Given the description of an element on the screen output the (x, y) to click on. 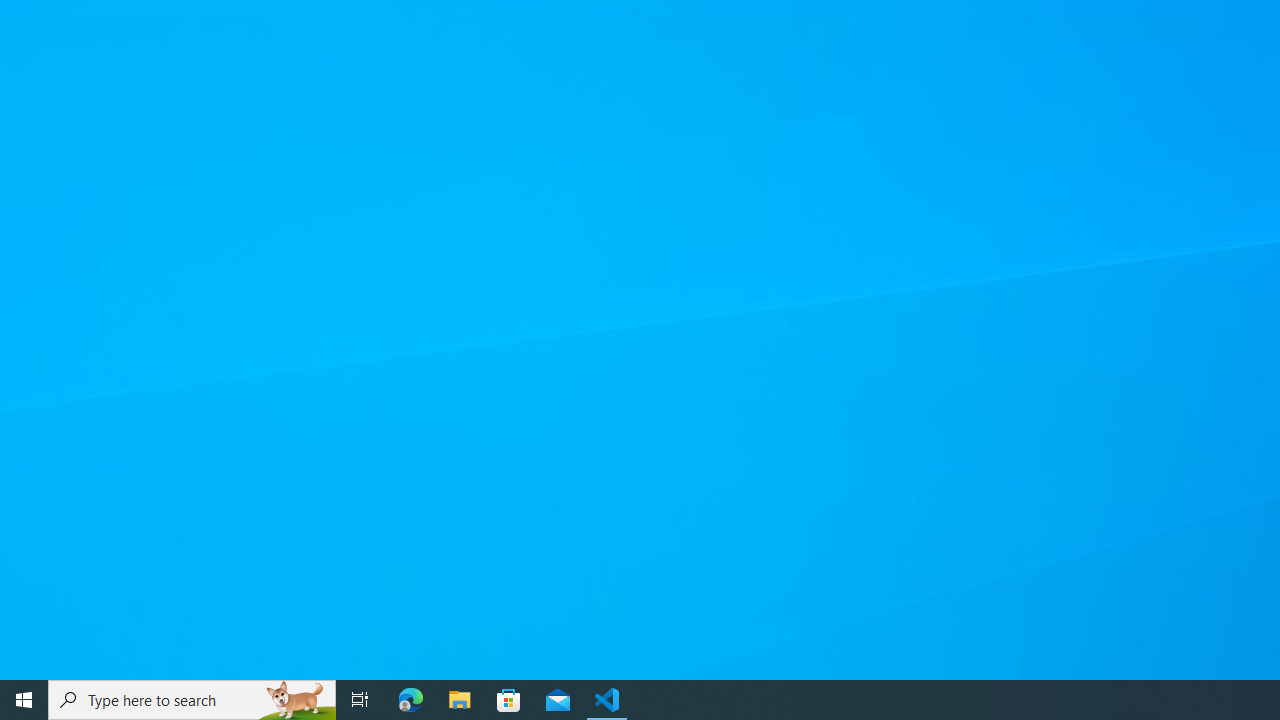
File Explorer (460, 699)
Search highlights icon opens search home window (295, 699)
Type here to search (191, 699)
Visual Studio Code - 1 running window (607, 699)
Start (24, 699)
Microsoft Edge (411, 699)
Microsoft Store (509, 699)
Task View (359, 699)
